Given the description of an element on the screen output the (x, y) to click on. 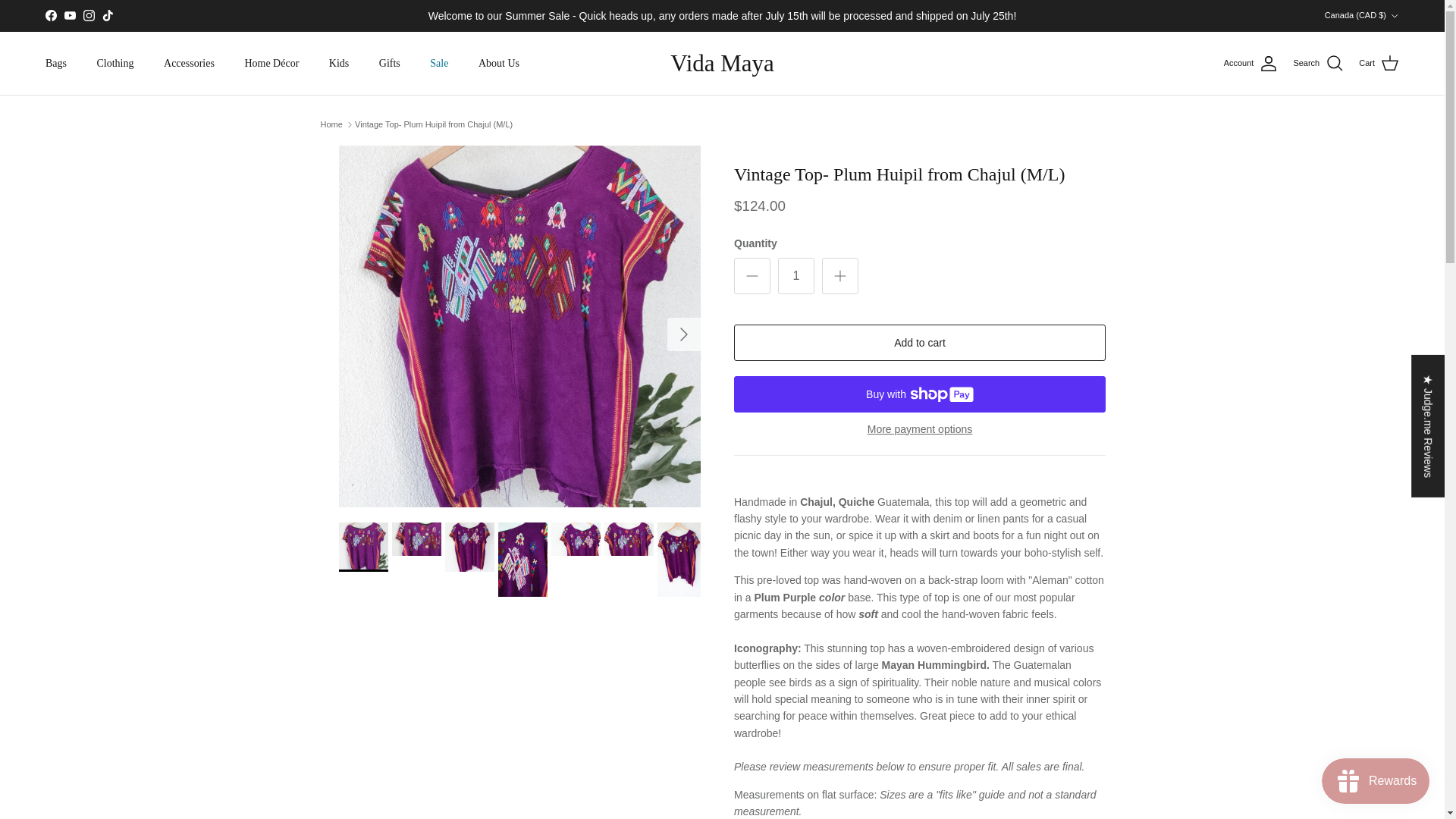
Vida Maya  on Facebook (50, 15)
About Us (498, 62)
Accessories (188, 62)
Vida Maya  on Instagram (88, 15)
Vida Maya  on TikTok (107, 15)
Gifts (389, 62)
Vida Maya  on YouTube (69, 15)
Search (1317, 63)
Vida Maya (721, 62)
Instagram (88, 15)
Facebook (50, 15)
Kids (338, 62)
YouTube (69, 15)
Vida Maya  (721, 62)
Clothing (115, 62)
